Given the description of an element on the screen output the (x, y) to click on. 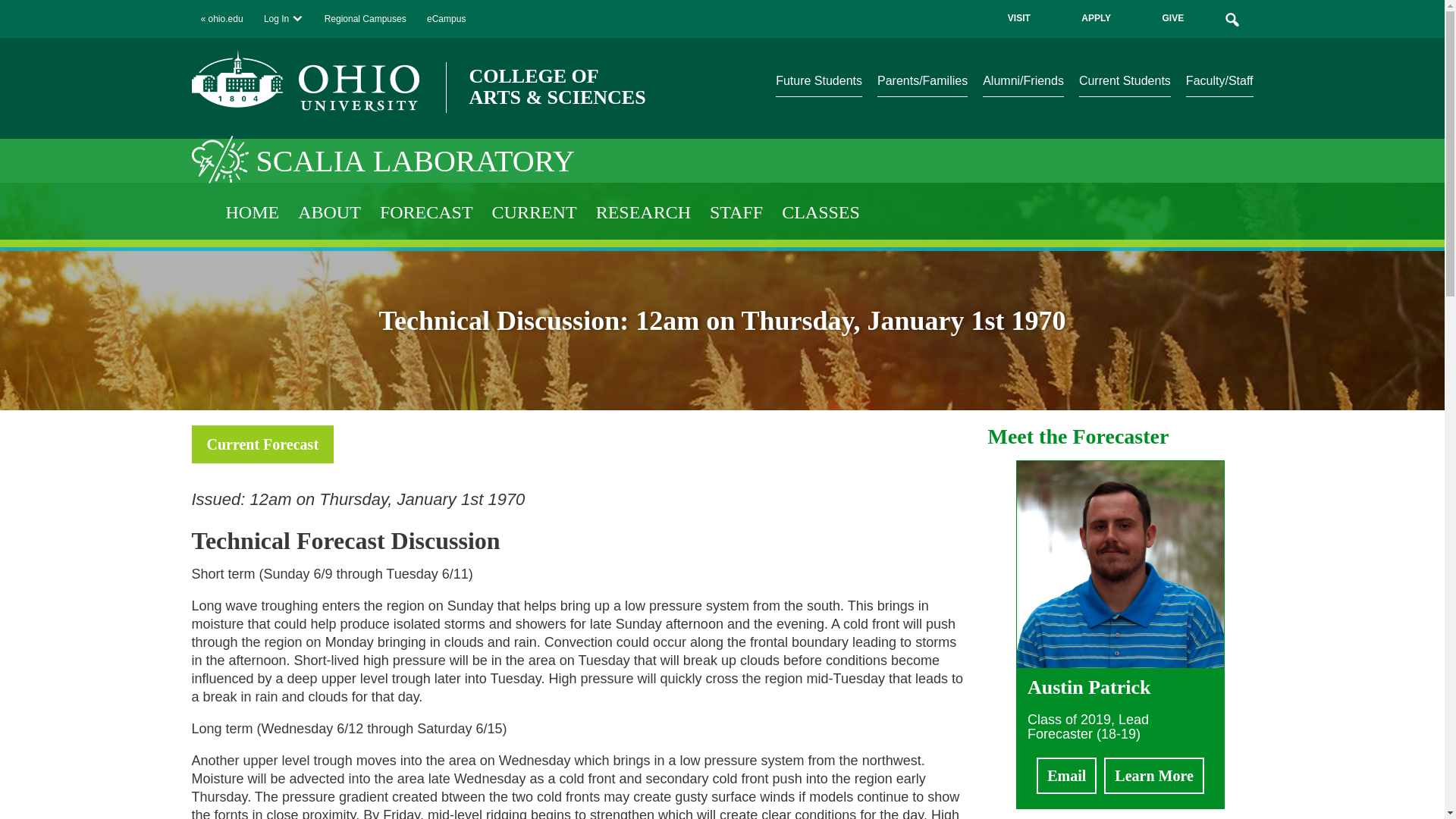
Austin Patrick (1120, 663)
Return to the Ohio University homepage. (304, 80)
Return to the Scalia Lab homepage. (415, 160)
Return to the Scalia Lab homepage. (223, 158)
